Given the description of an element on the screen output the (x, y) to click on. 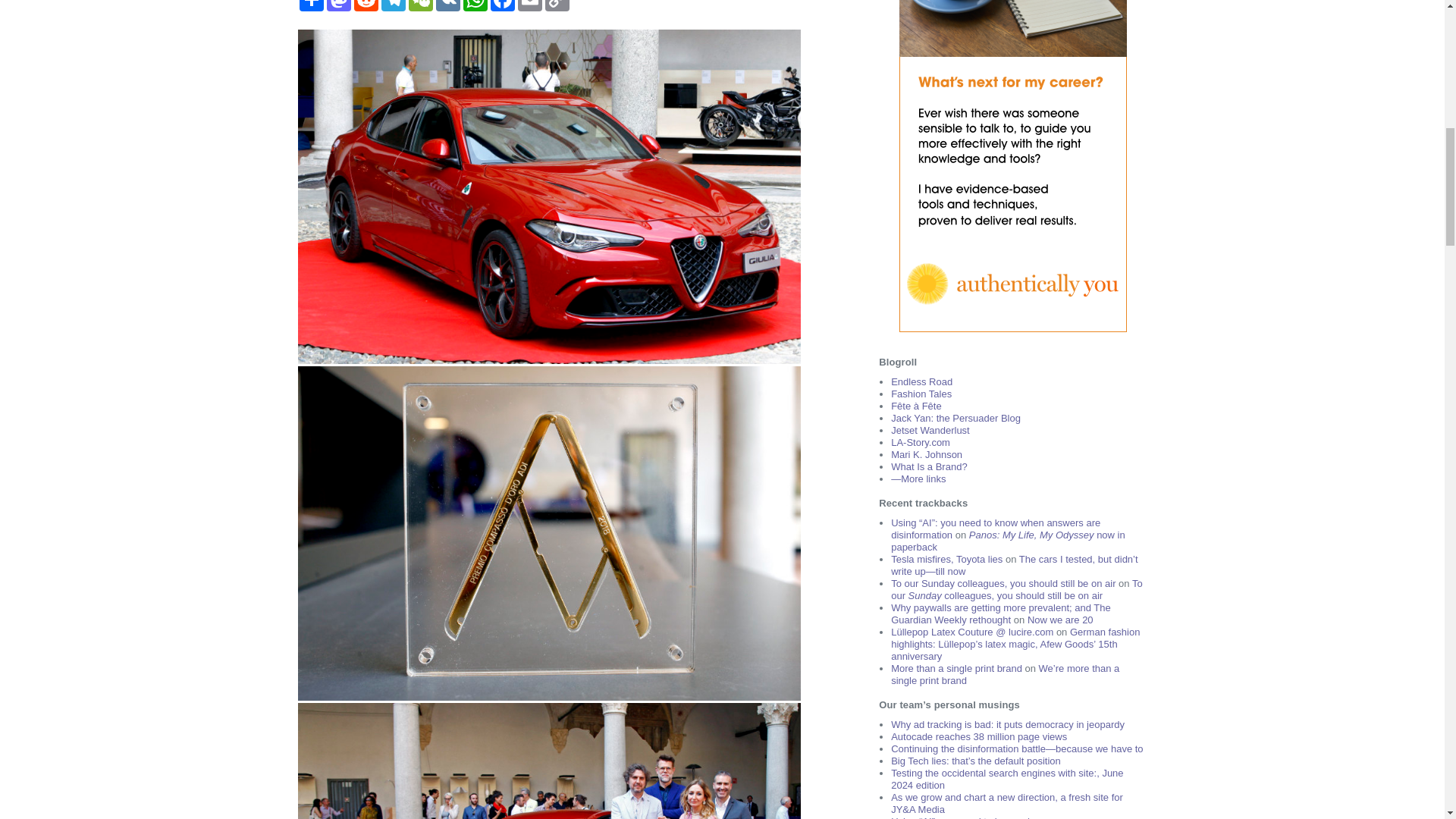
WeChat (419, 5)
Copy Link (556, 5)
Mastodon (338, 5)
Lucire alumna Tami Yu on beauty and living (915, 405)
VK (447, 5)
Facebook (501, 5)
More of our favourite sites (917, 478)
Telegram (392, 5)
WhatsApp (474, 5)
Reddit (365, 5)
Email (529, 5)
The travel blog of Lucire travel editor Stanley Moss. (921, 381)
